Given the description of an element on the screen output the (x, y) to click on. 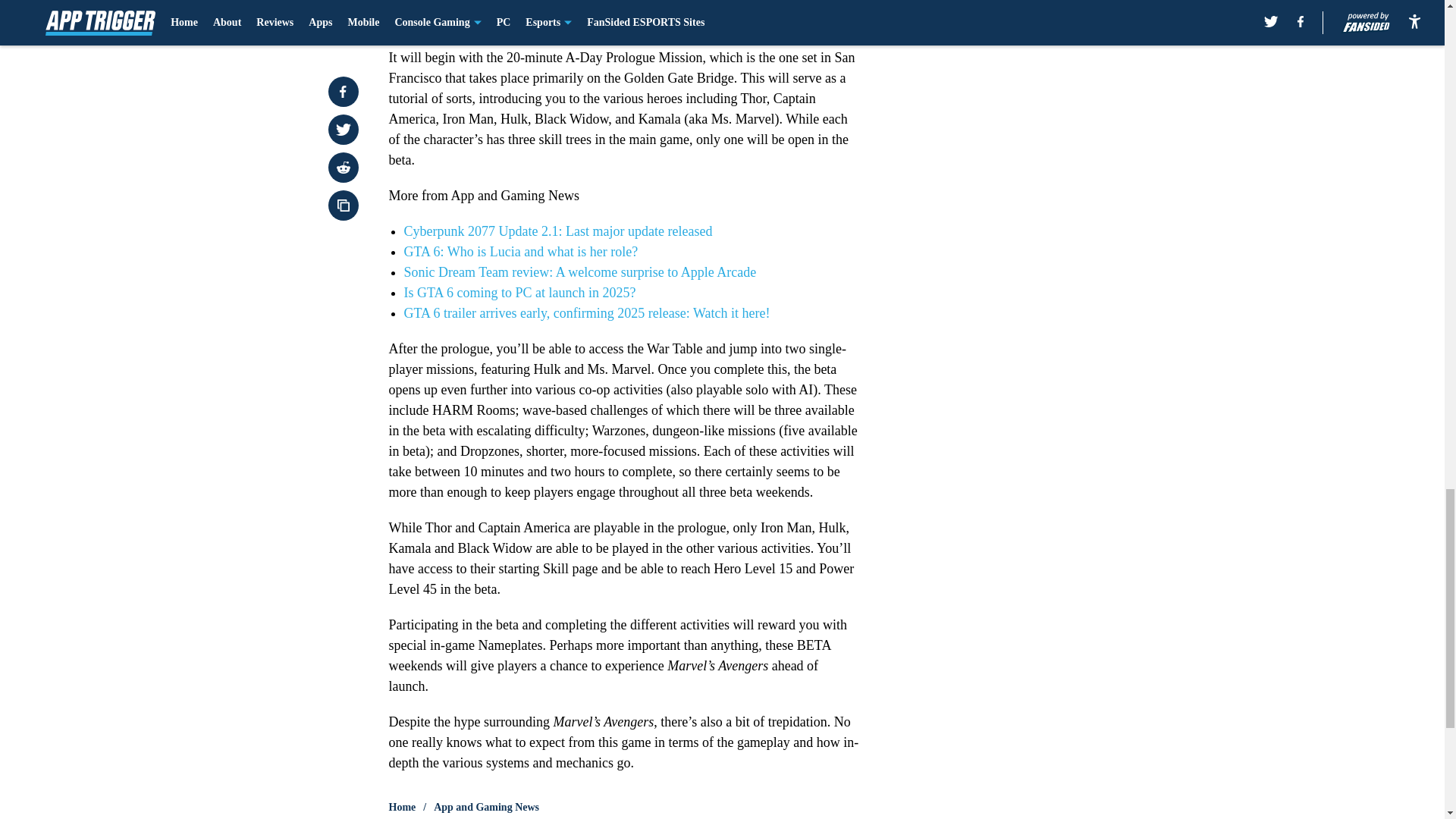
Is GTA 6 coming to PC at launch in 2025? (518, 292)
App and Gaming News (485, 807)
Cyberpunk 2077 Update 2.1: Last major update released (557, 231)
GTA 6: Who is Lucia and what is her role? (520, 251)
Home (401, 807)
Sonic Dream Team review: A welcome surprise to Apple Arcade (579, 272)
